Given the description of an element on the screen output the (x, y) to click on. 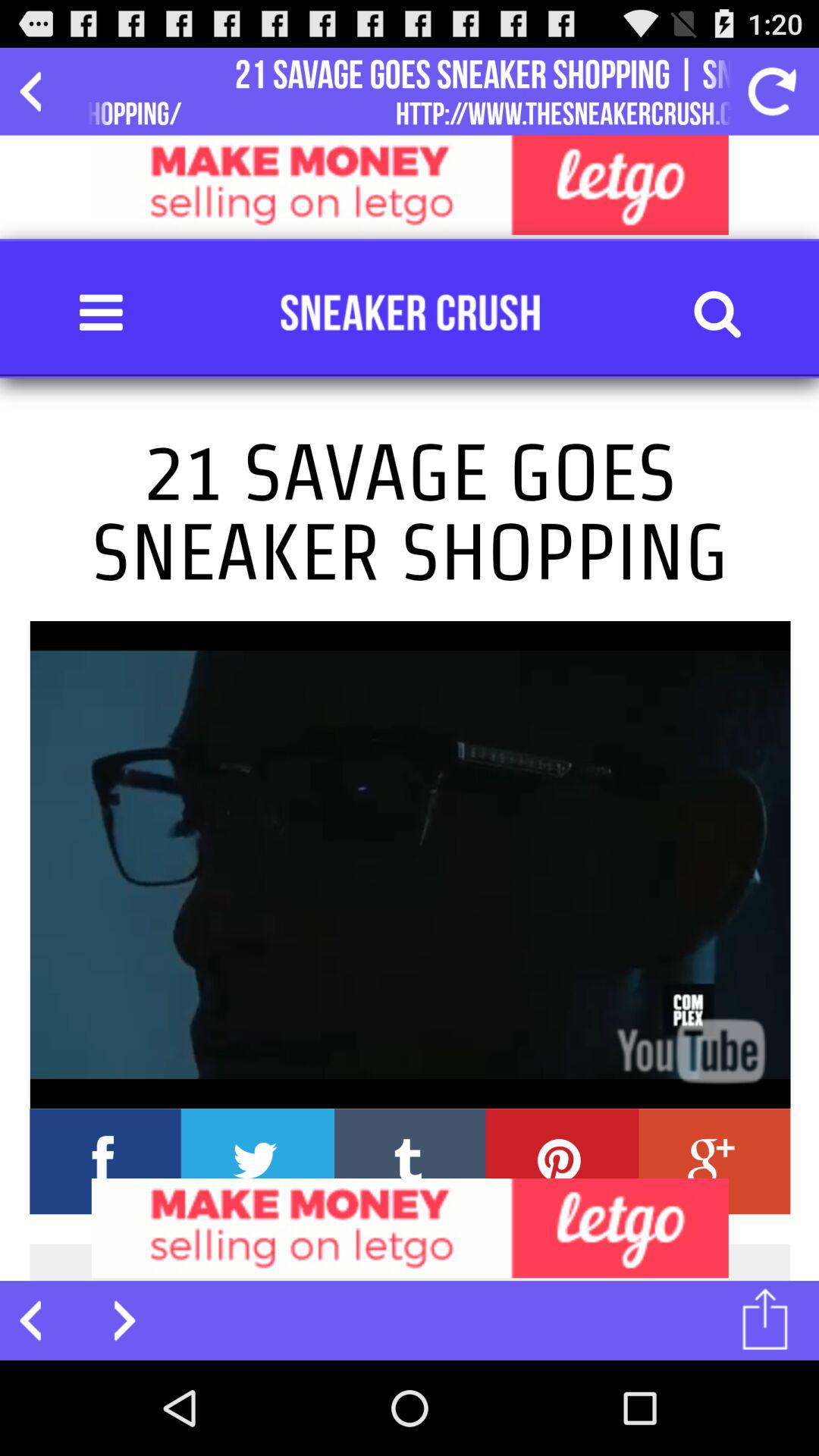
previous (39, 1320)
